Given the description of an element on the screen output the (x, y) to click on. 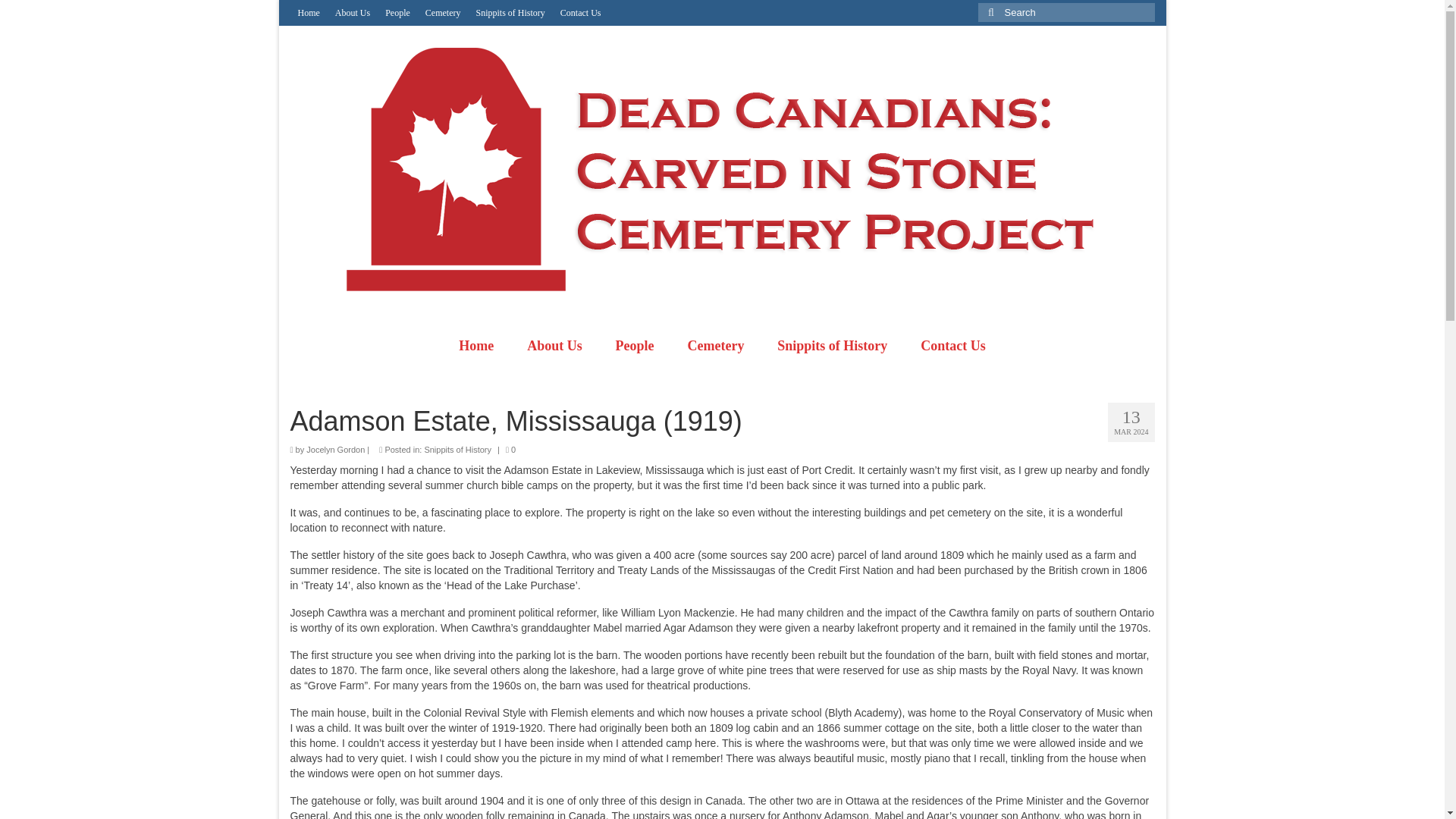
People (634, 346)
Jocelyn Gordon (335, 449)
Snippits of History (831, 346)
Home (307, 12)
Snippits of History (510, 12)
Snippits of History (457, 449)
About Us (352, 12)
Contact Us (580, 12)
People (397, 12)
Cemetery (714, 346)
